Given the description of an element on the screen output the (x, y) to click on. 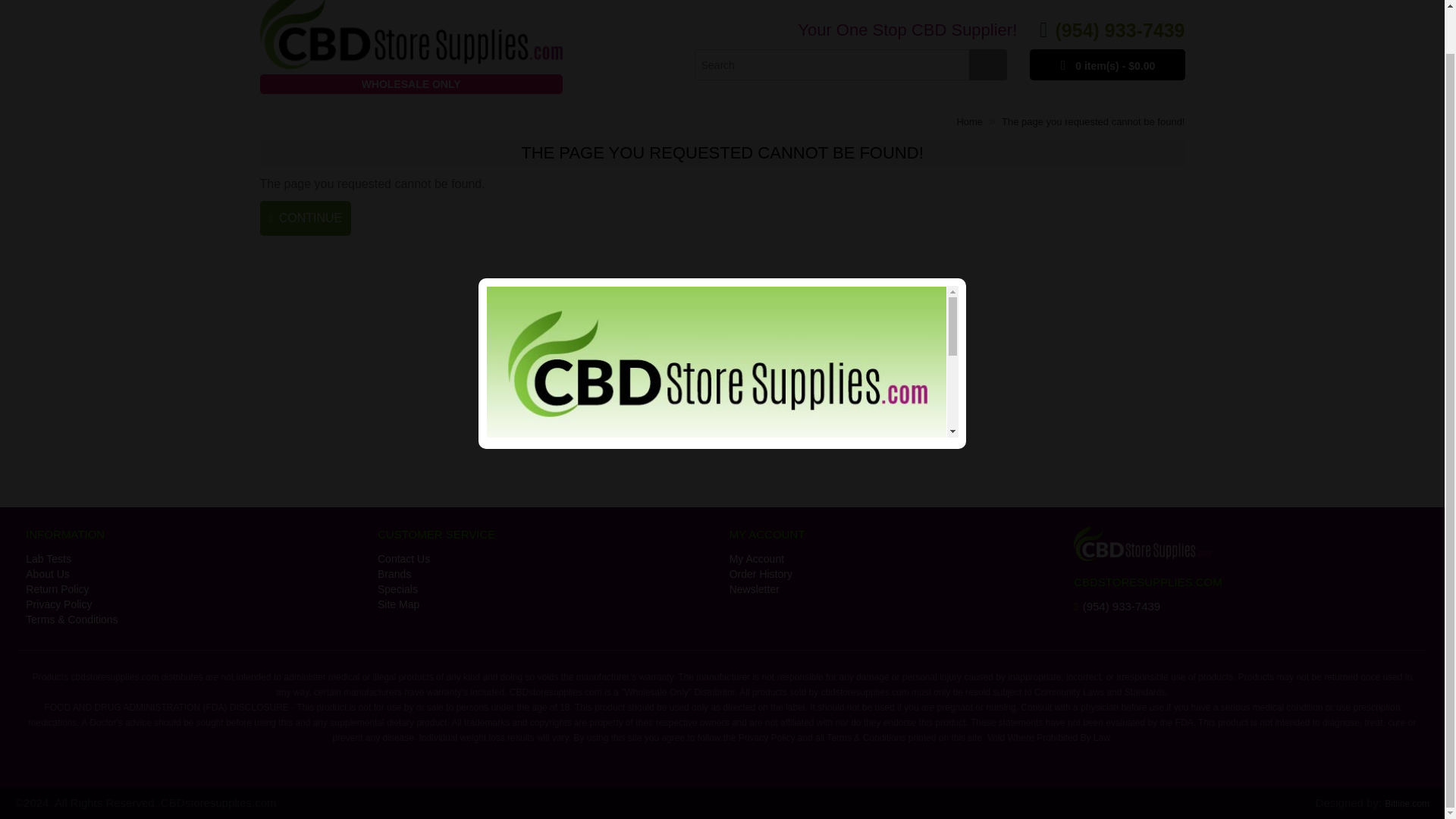
CBDstoresupplies.com (410, 52)
Contact Us (545, 558)
Lab Tests (194, 558)
Specials (545, 589)
Order History (898, 573)
Brands (545, 573)
Bitline.com (1406, 803)
Newsletter (898, 589)
About Us (194, 573)
View Cart (1107, 64)
